Given the description of an element on the screen output the (x, y) to click on. 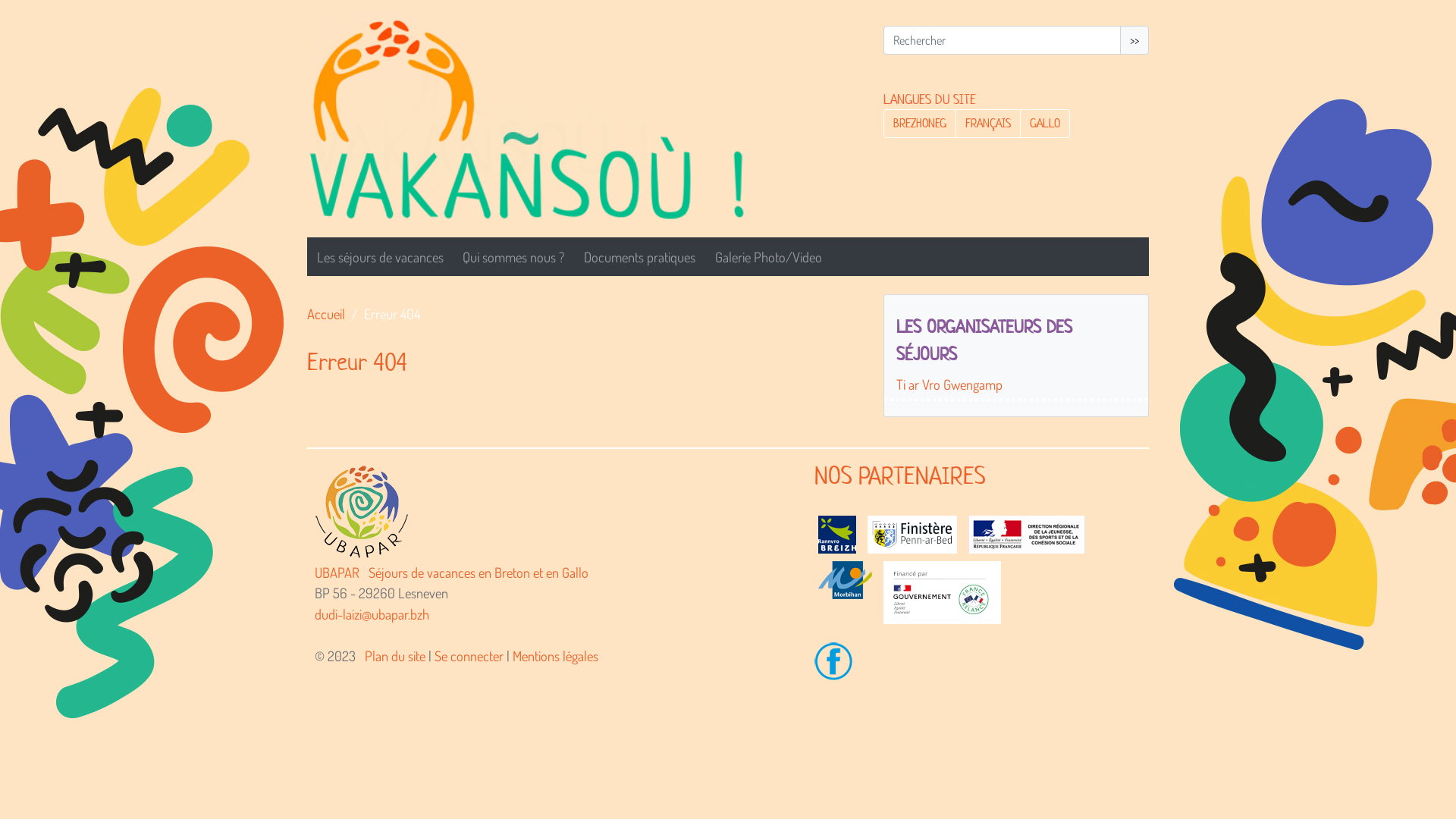
Plan du site Element type: text (394, 655)
BREZHONEG Element type: text (919, 123)
>> Element type: text (1134, 39)
dudi-laizi@ubapar.bzh Element type: text (371, 613)
Accueil Element type: hover (547, 113)
Galerie Photo/Video Element type: text (768, 256)
Se connecter Element type: text (468, 655)
Ti ar Vro Gwengamp Element type: text (1016, 384)
GALLO Element type: text (1044, 123)
Accueil Element type: text (326, 313)
Qui sommes nous ? Element type: text (513, 256)
Documents pratiques Element type: text (639, 256)
